Given the description of an element on the screen output the (x, y) to click on. 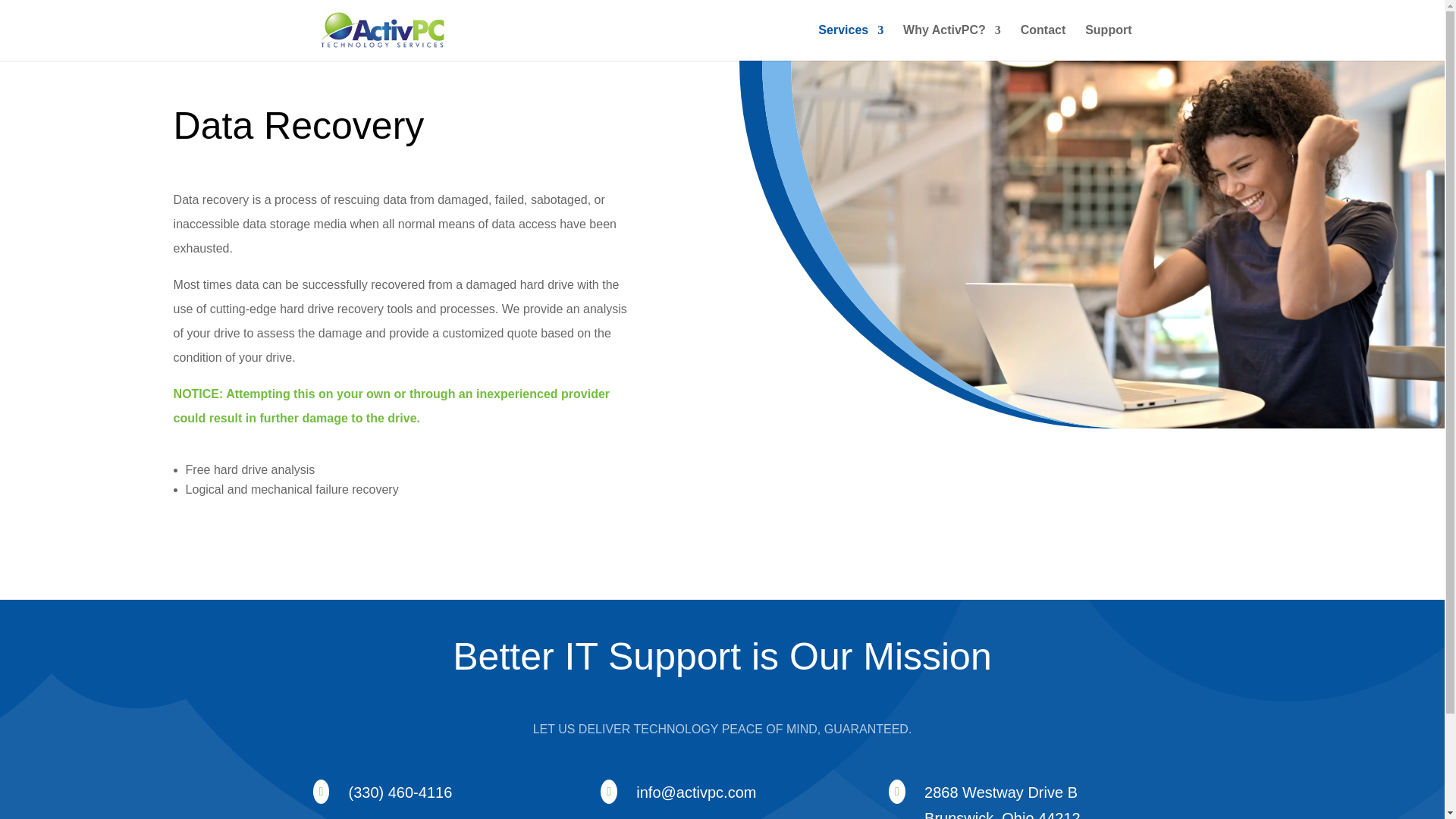
Why ActivPC? (951, 42)
Contact (1042, 42)
Support (1107, 42)
Services (850, 42)
